Given the description of an element on the screen output the (x, y) to click on. 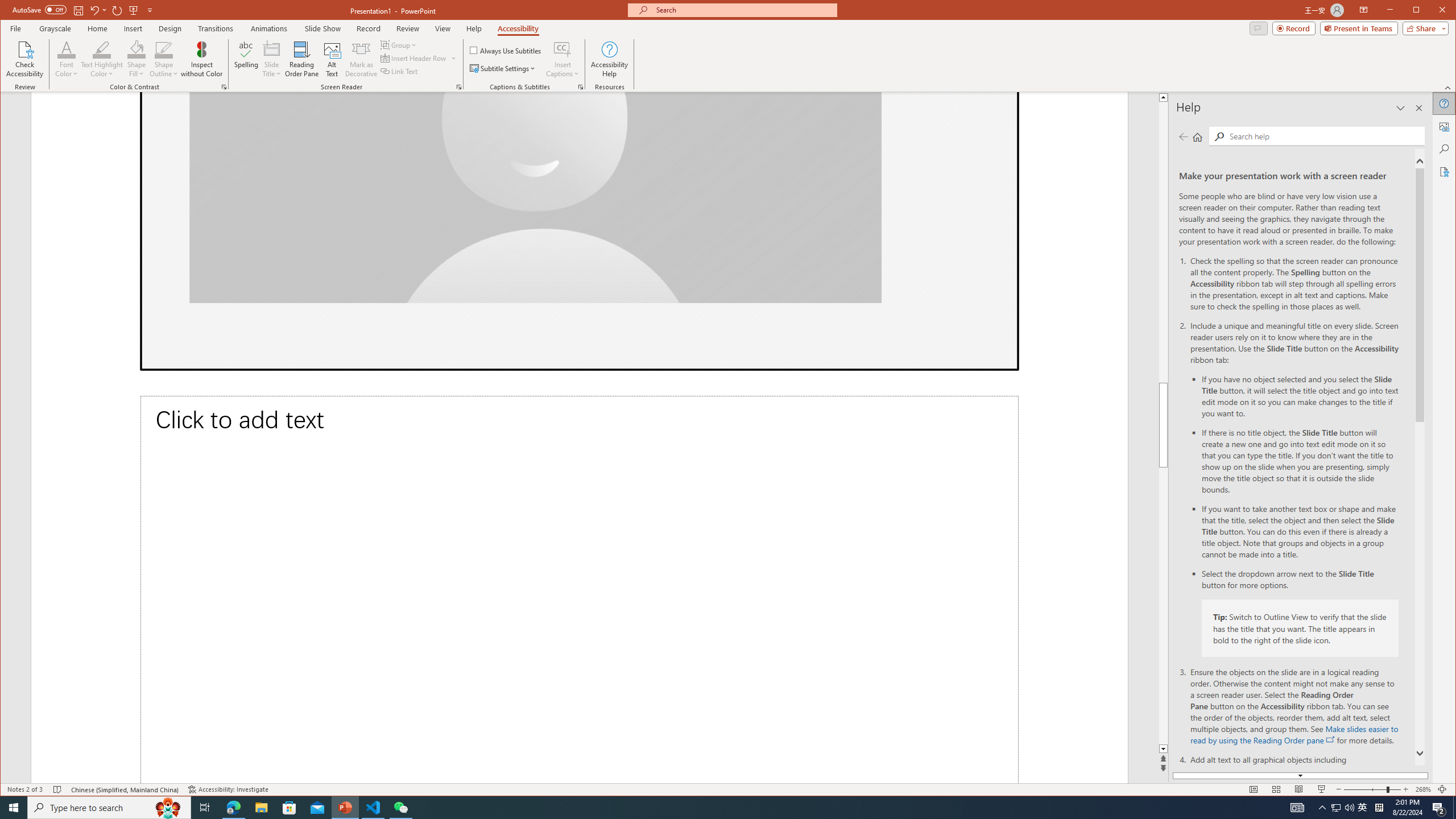
Subtitle Settings (502, 68)
WeChat - 1 running window (400, 807)
Group (399, 44)
Inspect without Color (201, 59)
